Given the description of an element on the screen output the (x, y) to click on. 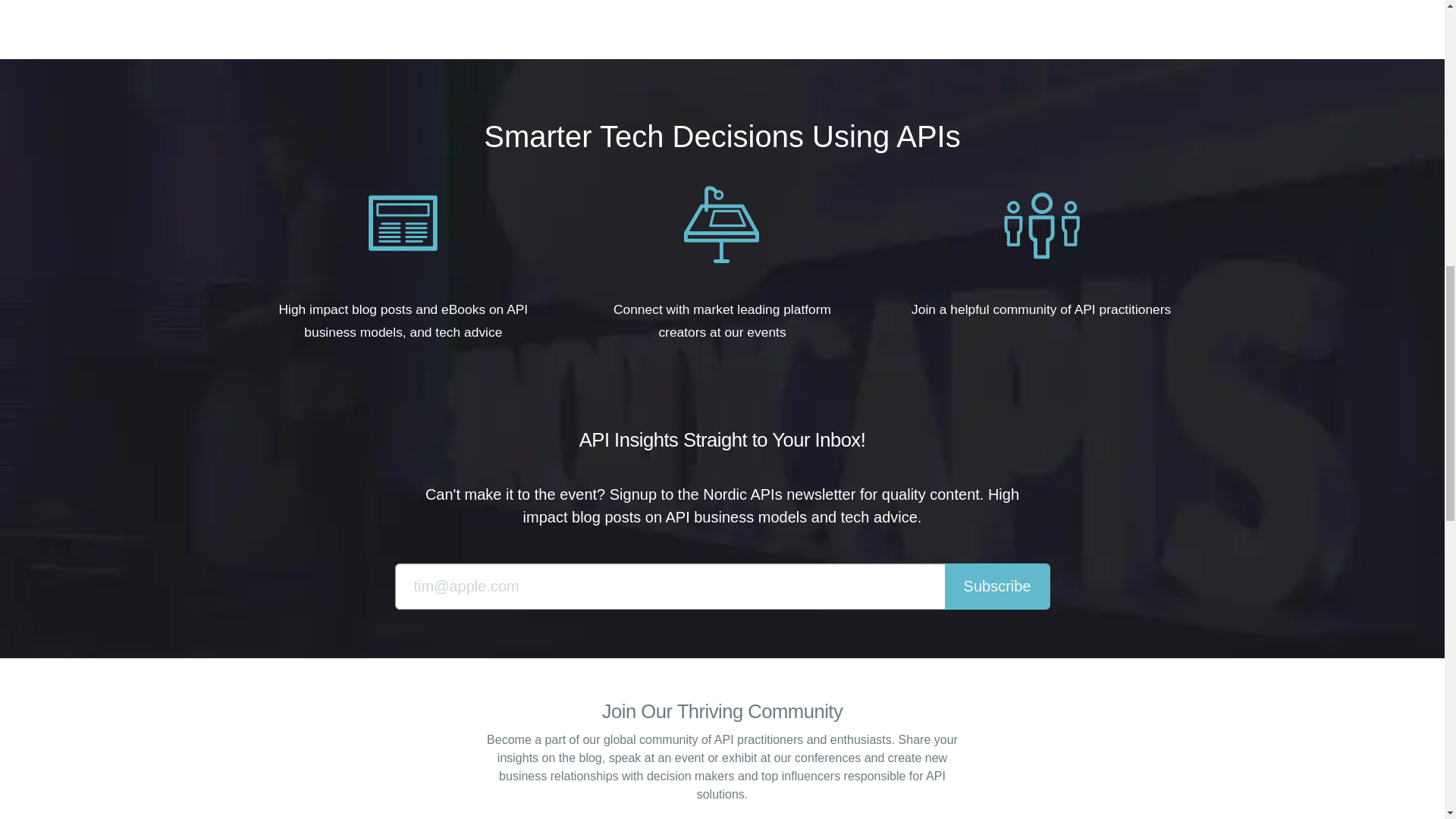
Subscribe (996, 586)
